Given the description of an element on the screen output the (x, y) to click on. 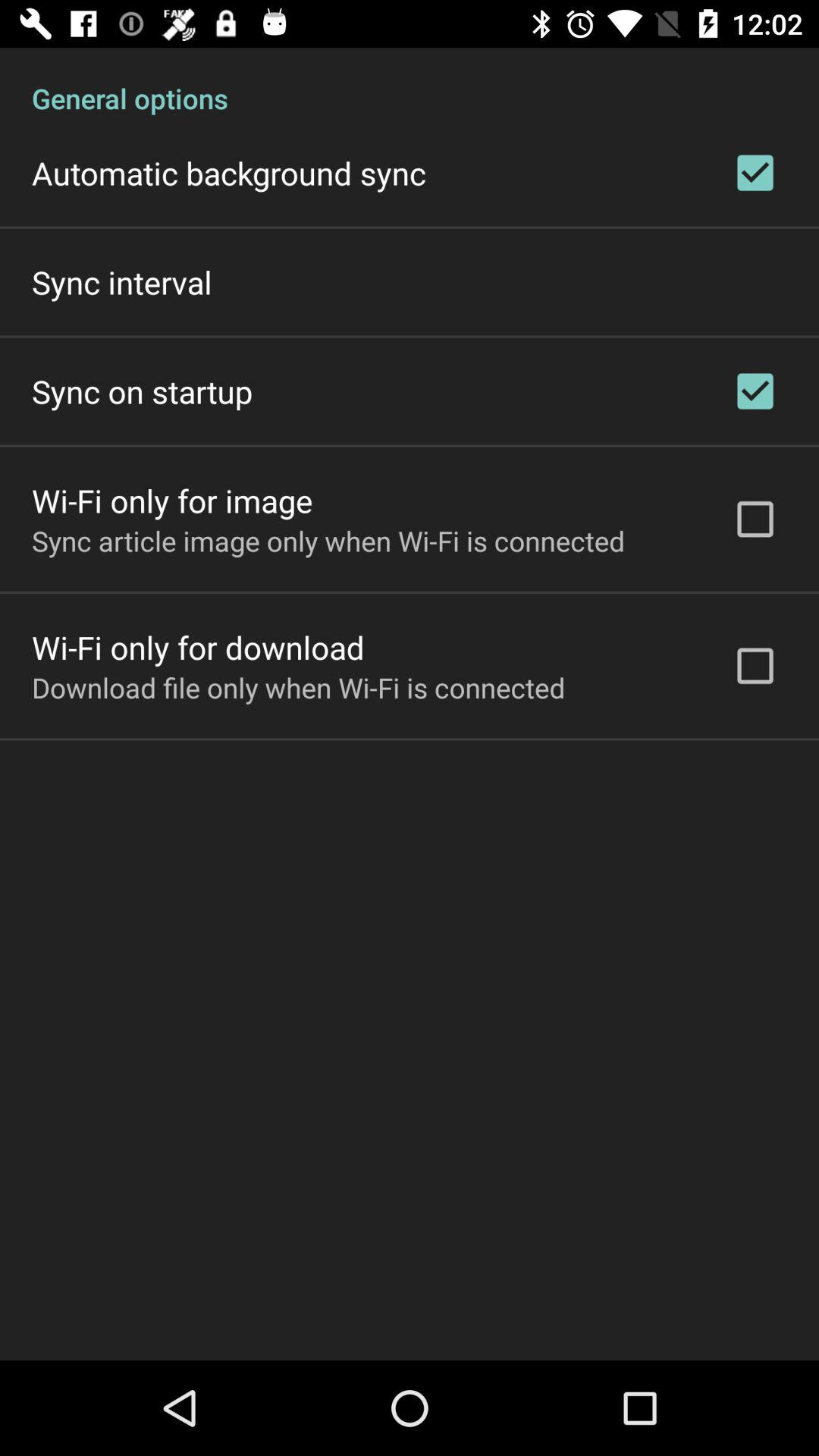
select the icon above wi fi only item (328, 540)
